Given the description of an element on the screen output the (x, y) to click on. 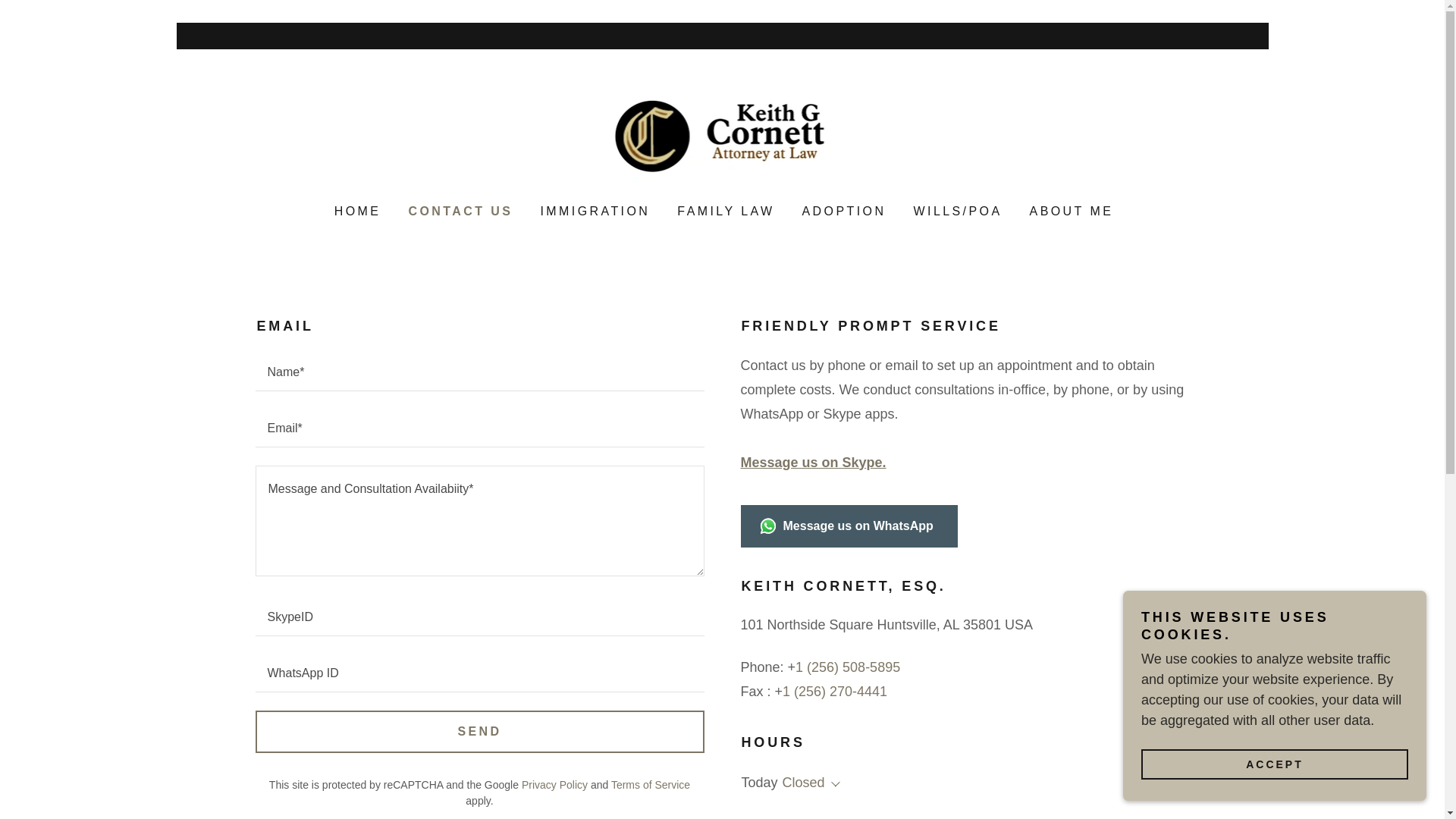
Message us on Skype. (812, 462)
ABOUT ME (1070, 211)
Terms of Service (650, 784)
Attorney Keith G. Cornett (722, 136)
CONTACT US (458, 211)
FAMILY LAW (723, 211)
ADOPTION (842, 211)
Privacy Policy (554, 784)
HOME (355, 211)
Message us on WhatsApp (847, 526)
IMMIGRATION (592, 211)
ACCEPT (1274, 764)
SEND (478, 731)
